Given the description of an element on the screen output the (x, y) to click on. 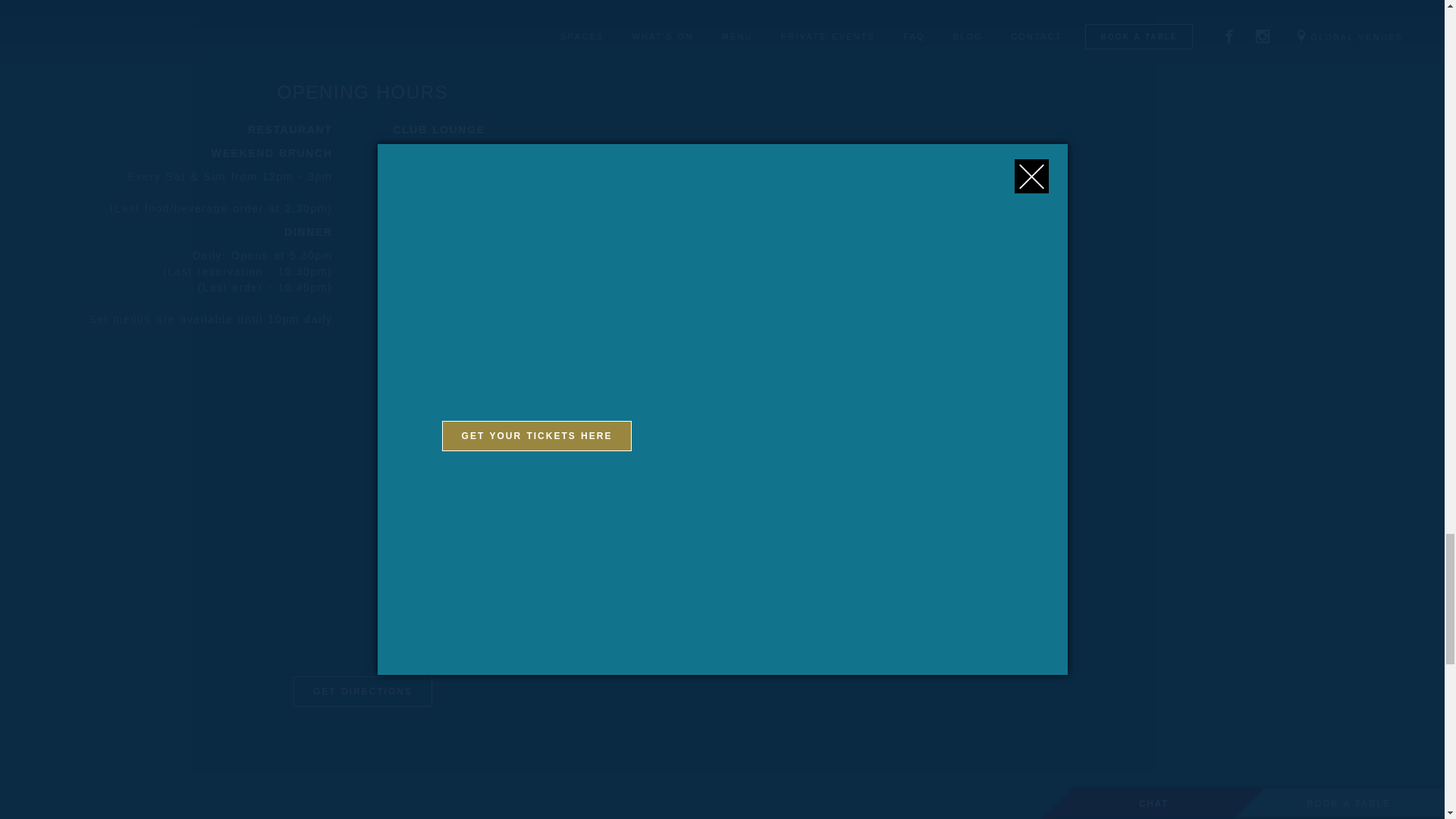
GET DIRECTIONS (363, 691)
